Given the description of an element on the screen output the (x, y) to click on. 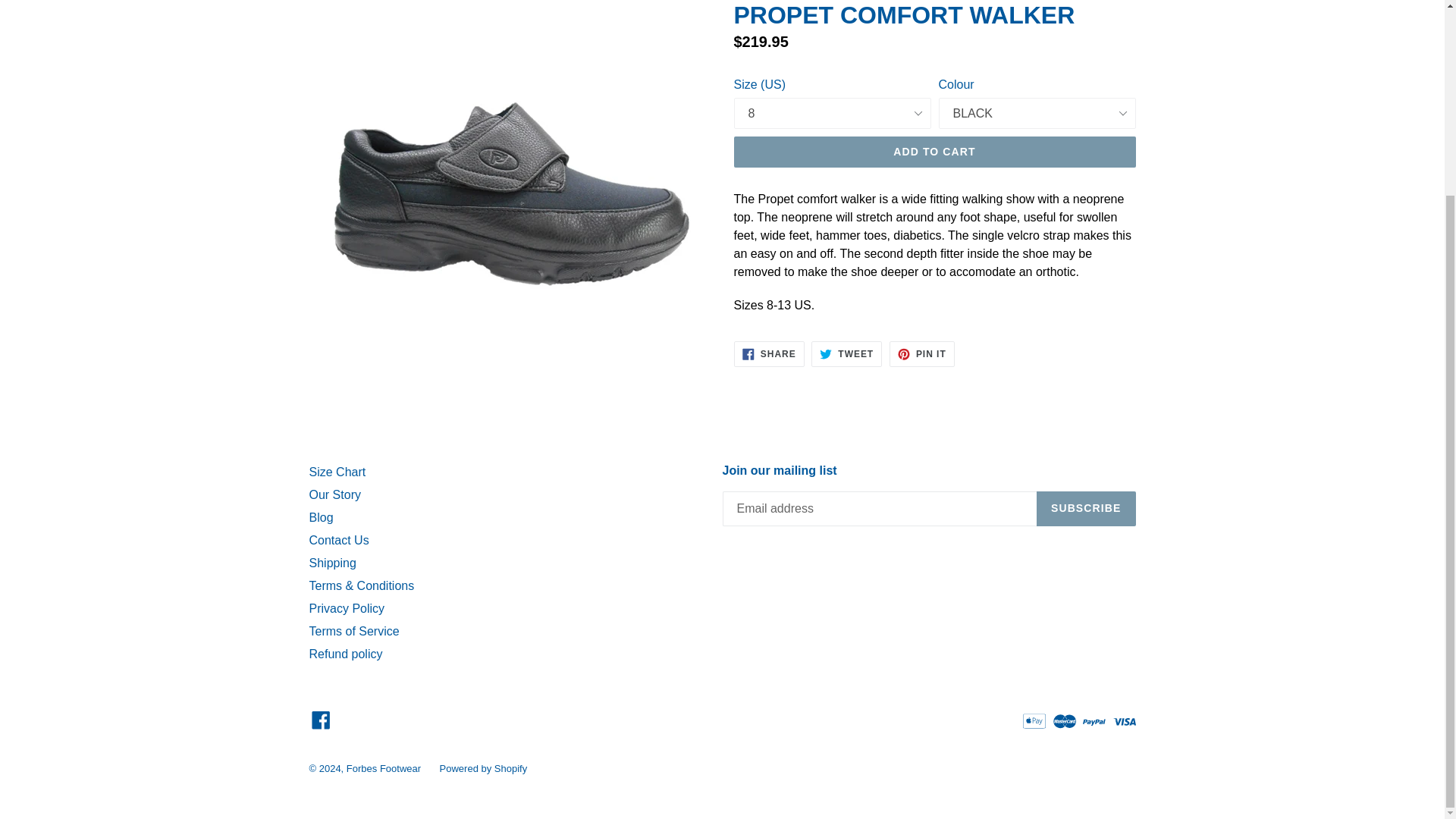
Pin on Pinterest (922, 353)
Share on Facebook (769, 353)
Tweet on Twitter (846, 353)
Forbes Footwear on Facebook (320, 719)
